Given the description of an element on the screen output the (x, y) to click on. 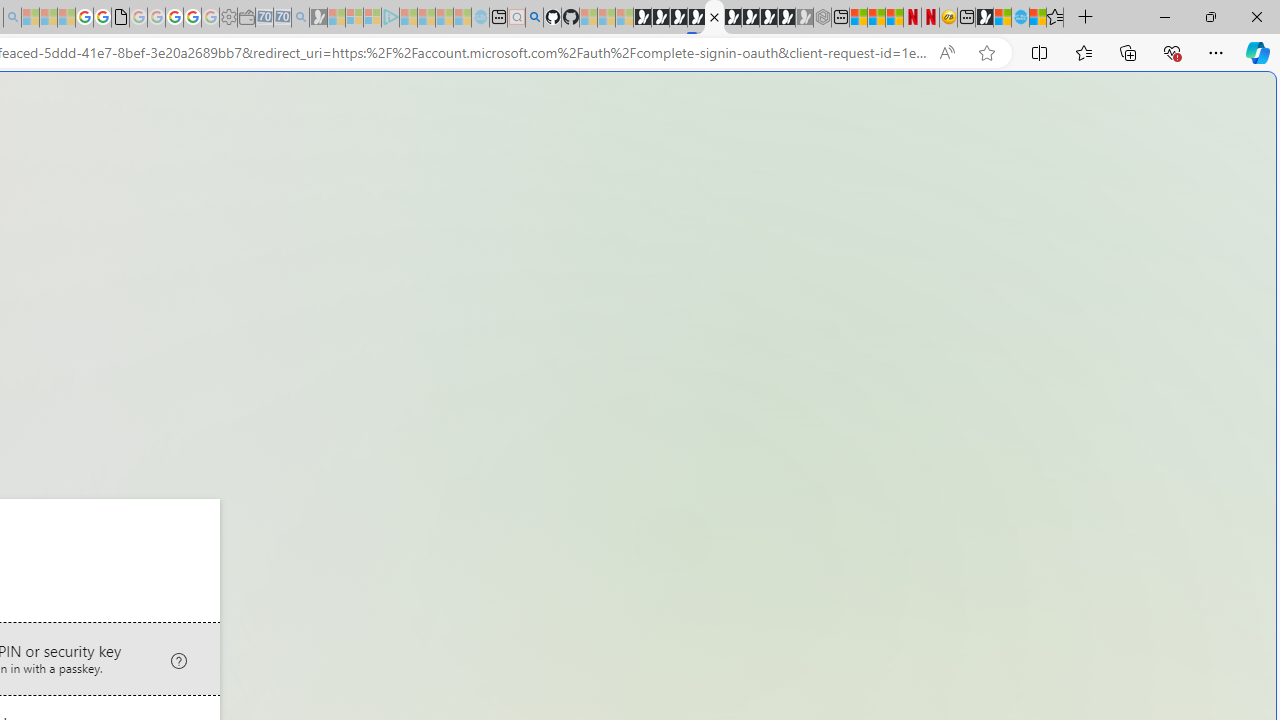
Frequently visited (418, 265)
